Given the description of an element on the screen output the (x, y) to click on. 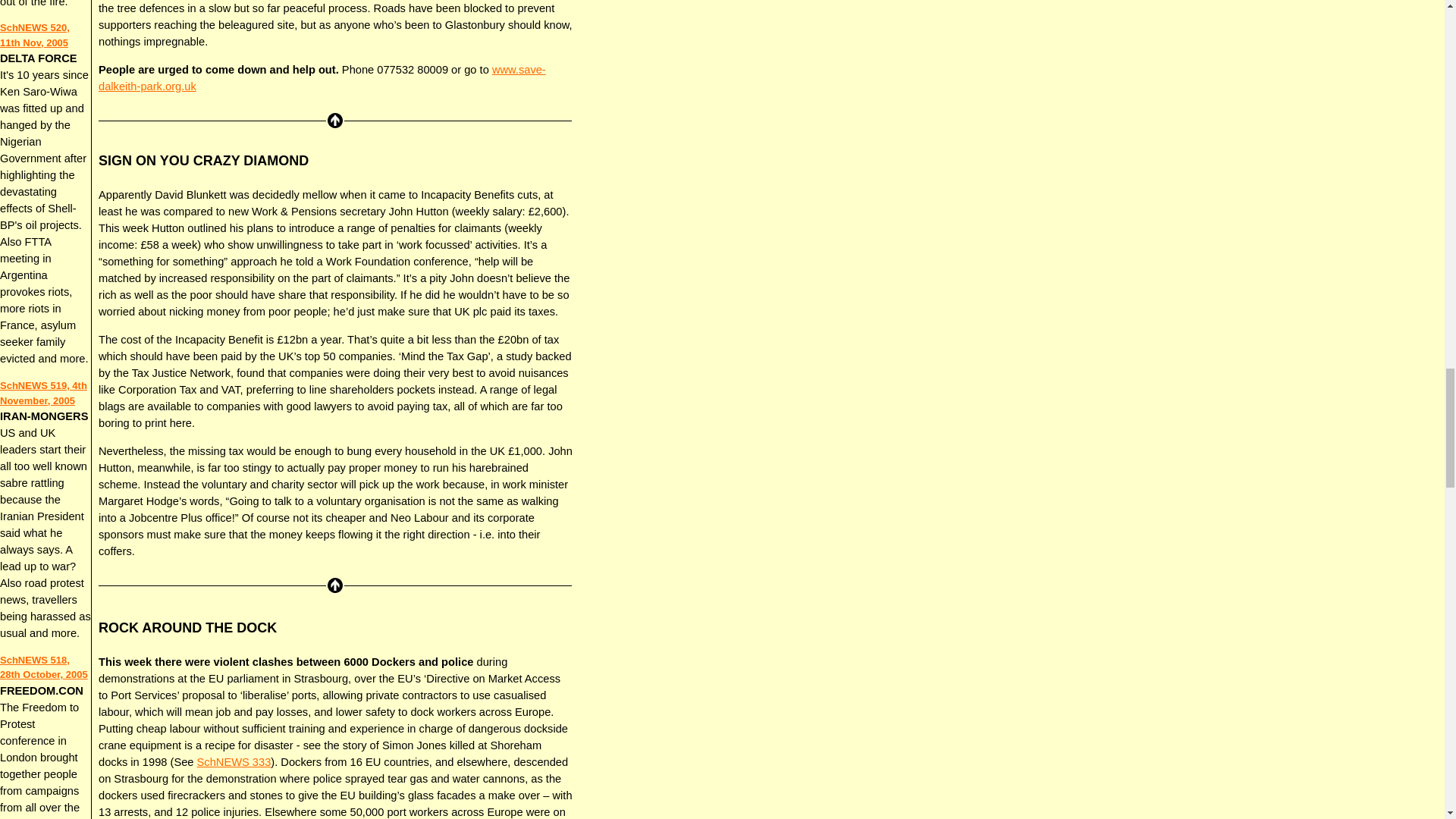
SchNEWS 520, 11th Nov, 2005 (34, 35)
SchNEWS 518, 28th October, 2005 (43, 667)
SchNEWS 519, 4th November, 2005 (43, 393)
